Given the description of an element on the screen output the (x, y) to click on. 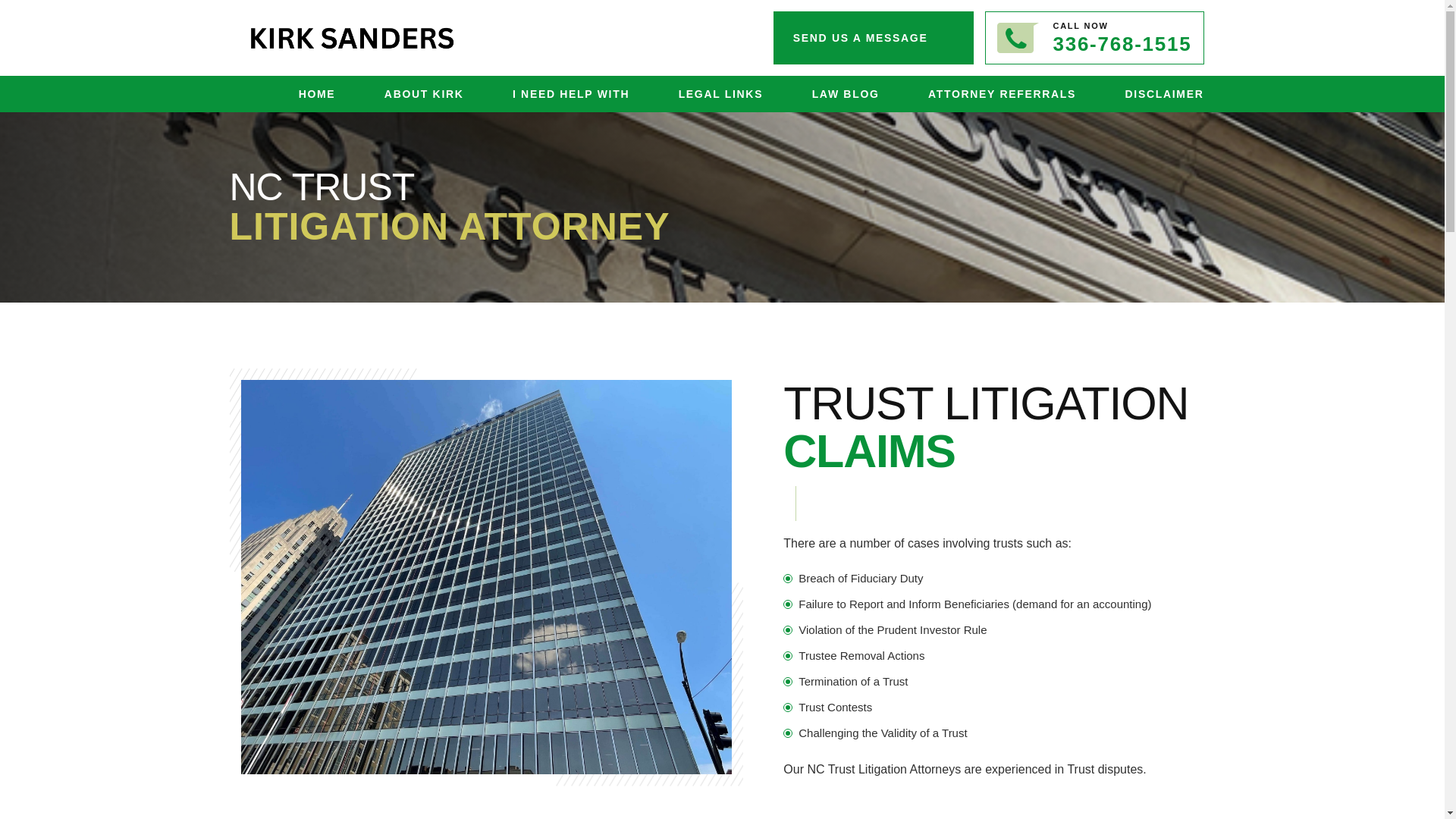
SEND US A MESSAGE (873, 37)
LEGAL LINKS (720, 93)
DISCLAIMER (1164, 93)
ATTORNEY REFERRALS (1001, 93)
SECONDARY B (354, 37)
LAW BLOG (845, 93)
ABOUT KIRK (424, 93)
I NEED HELP WITH (570, 93)
336-768-1515 (1121, 43)
HOME (317, 93)
